Given the description of an element on the screen output the (x, y) to click on. 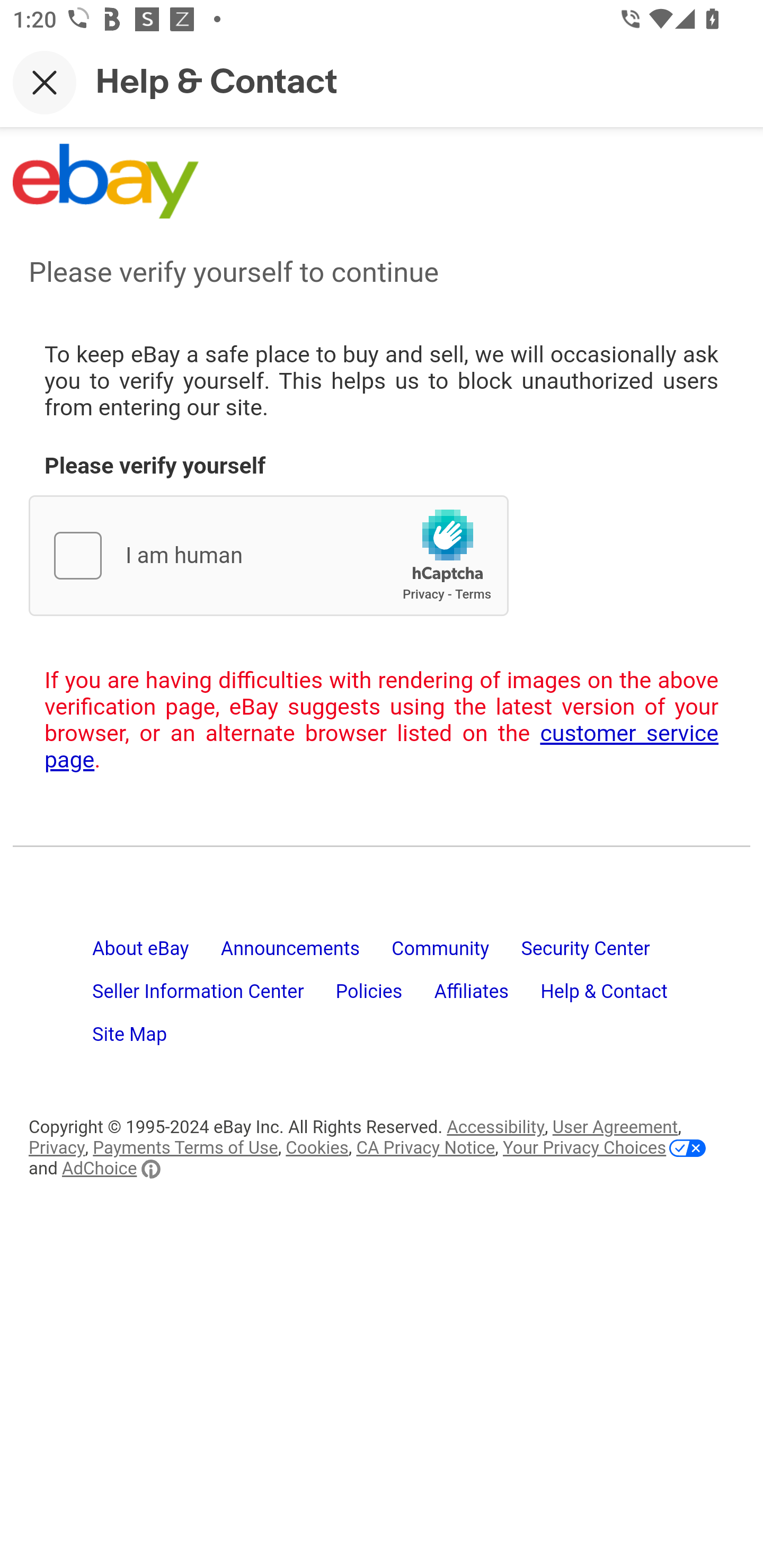
Close (44, 82)
eBay Home (105, 180)
hCaptcha Privacy Policy Privacy (423, 594)
hCaptcha Terms of Service Terms (472, 594)
customer service page (382, 746)
About eBay (156, 956)
Announcements (305, 956)
Community (455, 956)
Security Center (600, 956)
Seller Information Center (214, 999)
Policies (385, 999)
Affiliates (487, 999)
Help & Contact (619, 999)
Site Map (145, 1042)
Accessibility (495, 1127)
User Agreement (615, 1127)
Privacy (56, 1148)
Payments Terms of Use (185, 1148)
Cookies (316, 1148)
CA Privacy Notice (425, 1148)
Your Privacy Choices (604, 1148)
AdChoice (110, 1168)
